Given the description of an element on the screen output the (x, y) to click on. 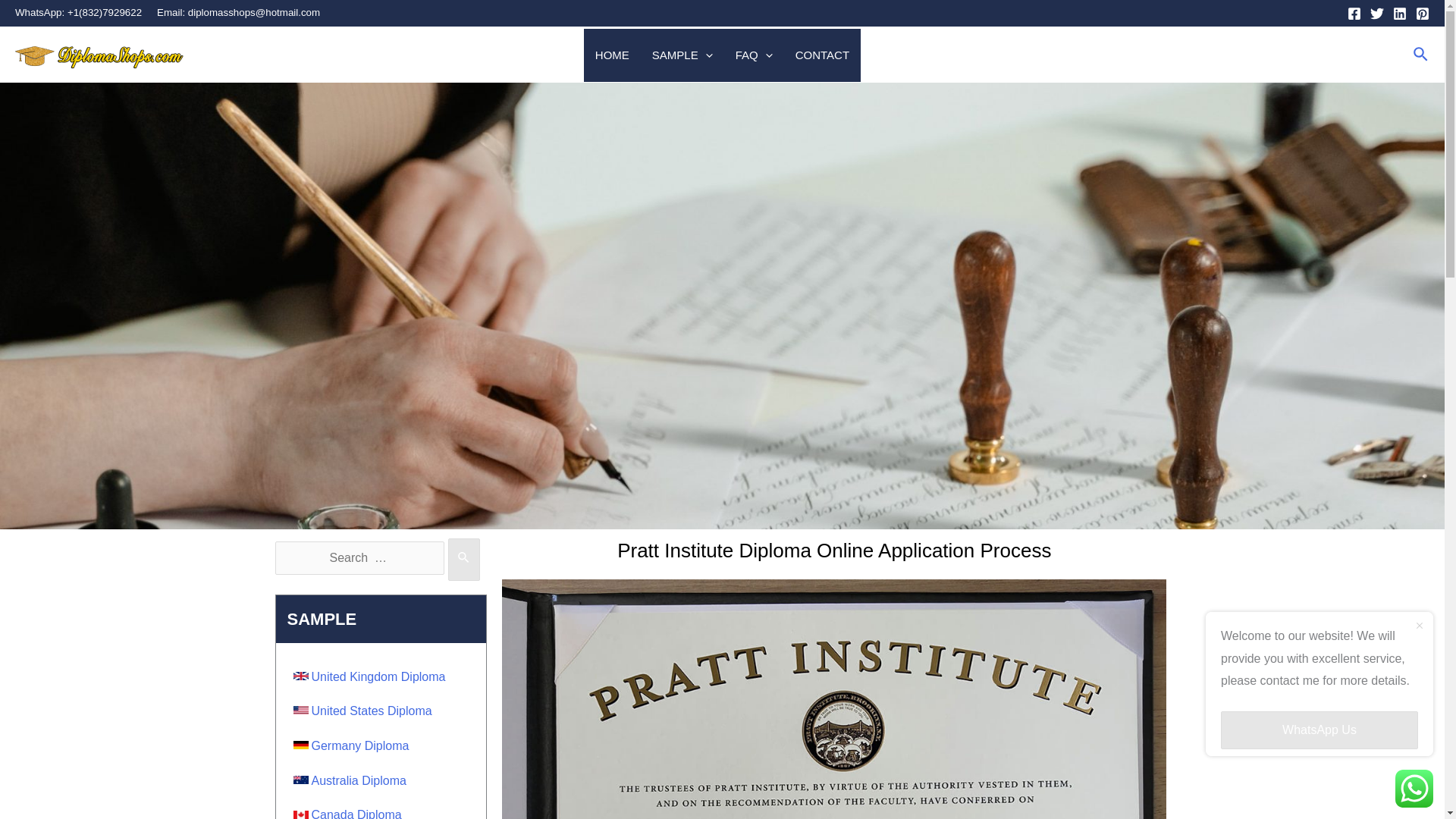
SAMPLE (681, 54)
HOME (611, 54)
CONTACT (822, 54)
rrr (104, 54)
FAQ (753, 54)
